Given the description of an element on the screen output the (x, y) to click on. 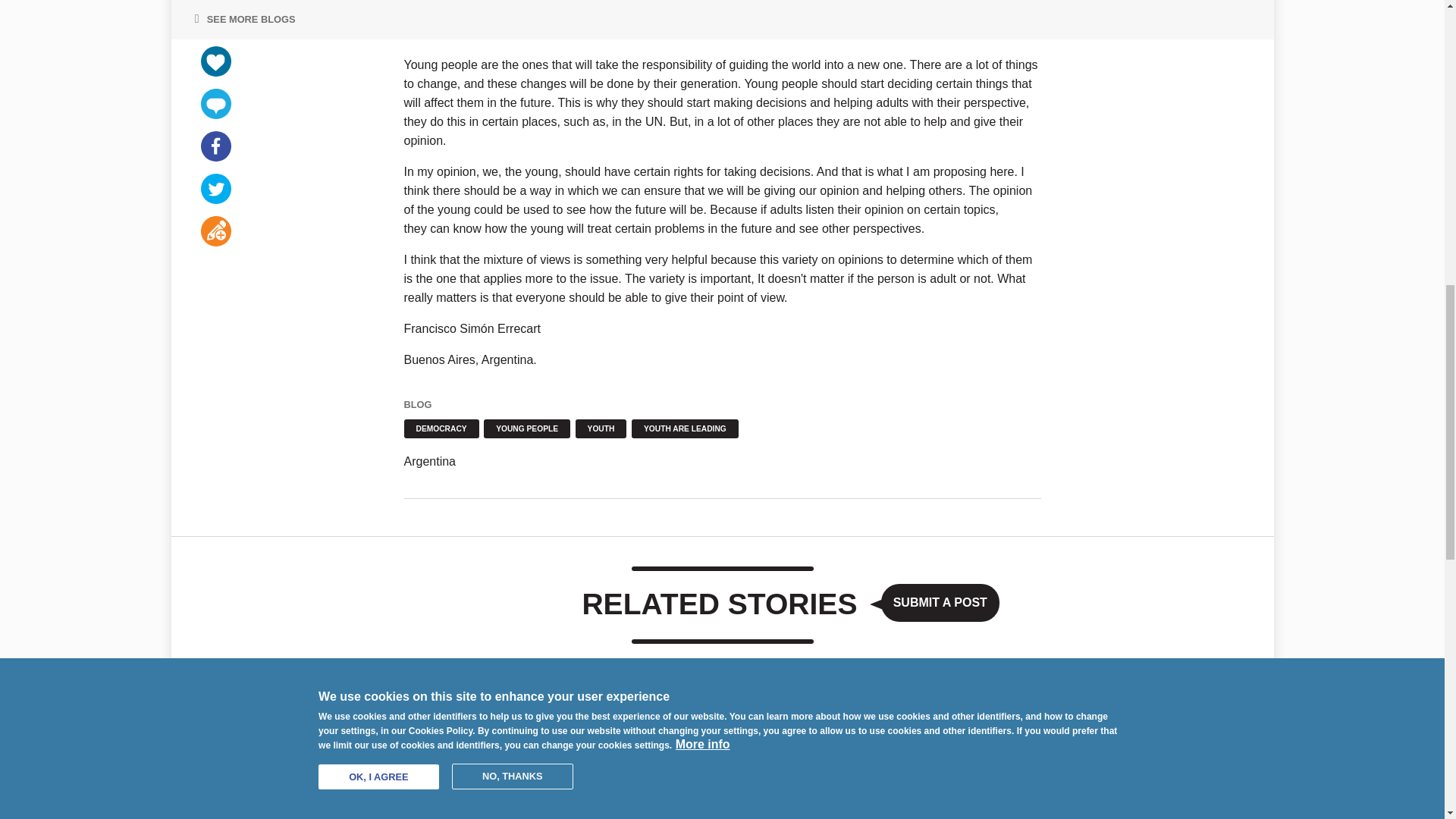
YOUNG PEOPLE (526, 428)
YOUTH (601, 428)
DEMOCRACY (441, 428)
YOUTH ARE LEADING (684, 428)
SUBMIT A POST (939, 602)
